Given the description of an element on the screen output the (x, y) to click on. 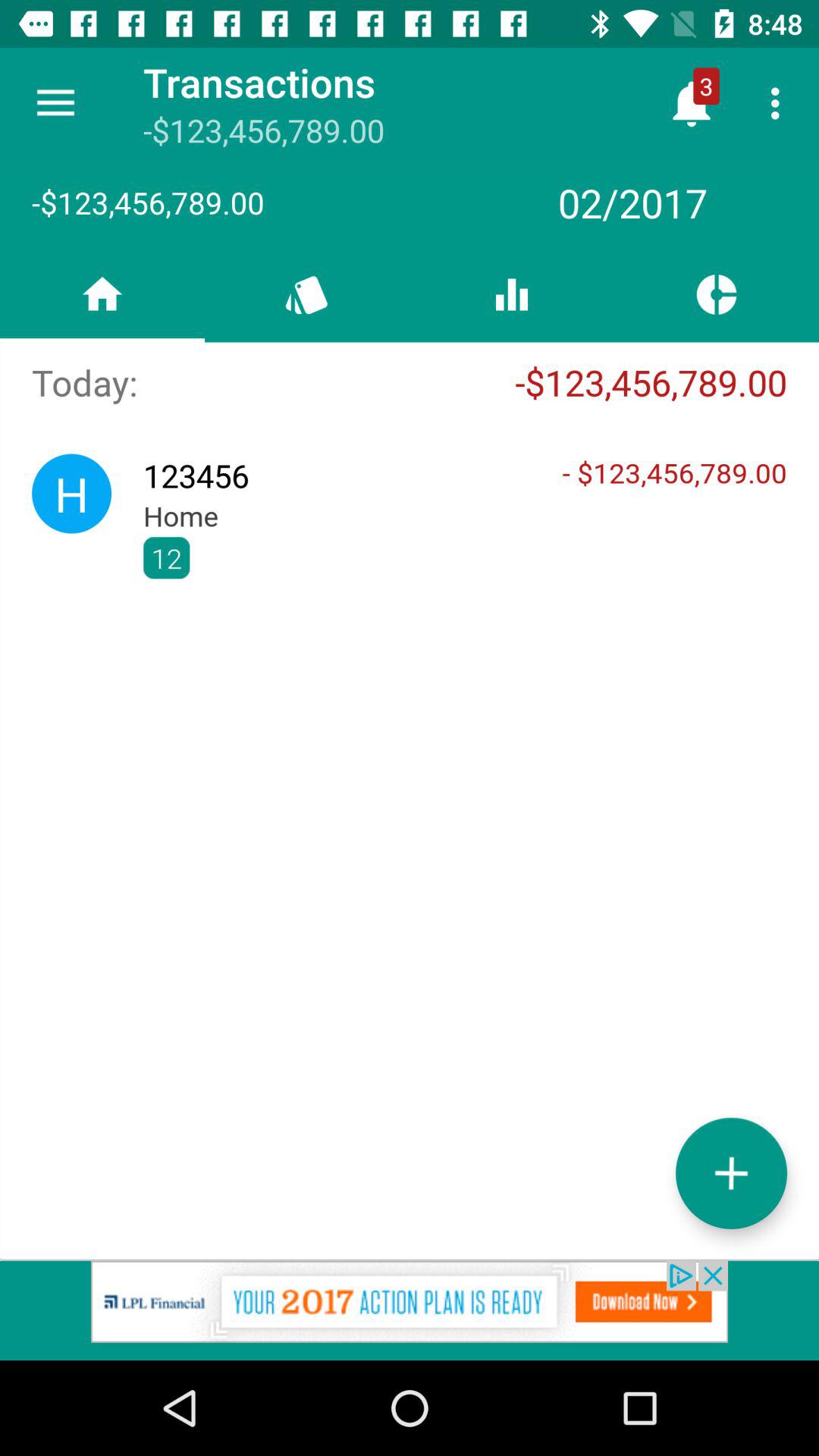
add new file (731, 1173)
